Given the description of an element on the screen output the (x, y) to click on. 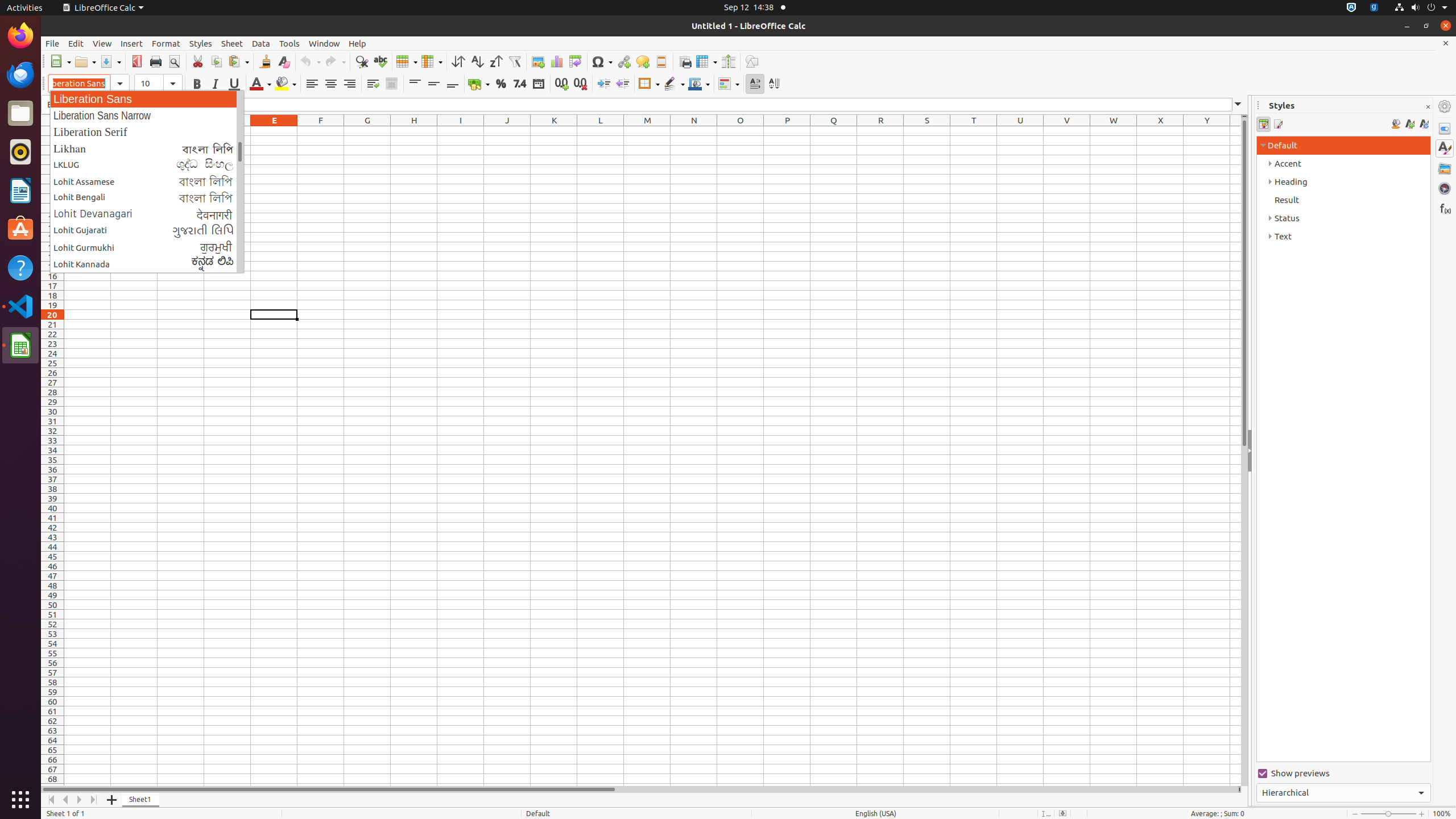
Text direction from top to bottom Element type: toggle-button (773, 83)
Percent Element type: push-button (500, 83)
Show previews Element type: check-box (1343, 773)
Gallery Element type: radio-button (1444, 168)
PDF Element type: push-button (136, 61)
